Given the description of an element on the screen output the (x, y) to click on. 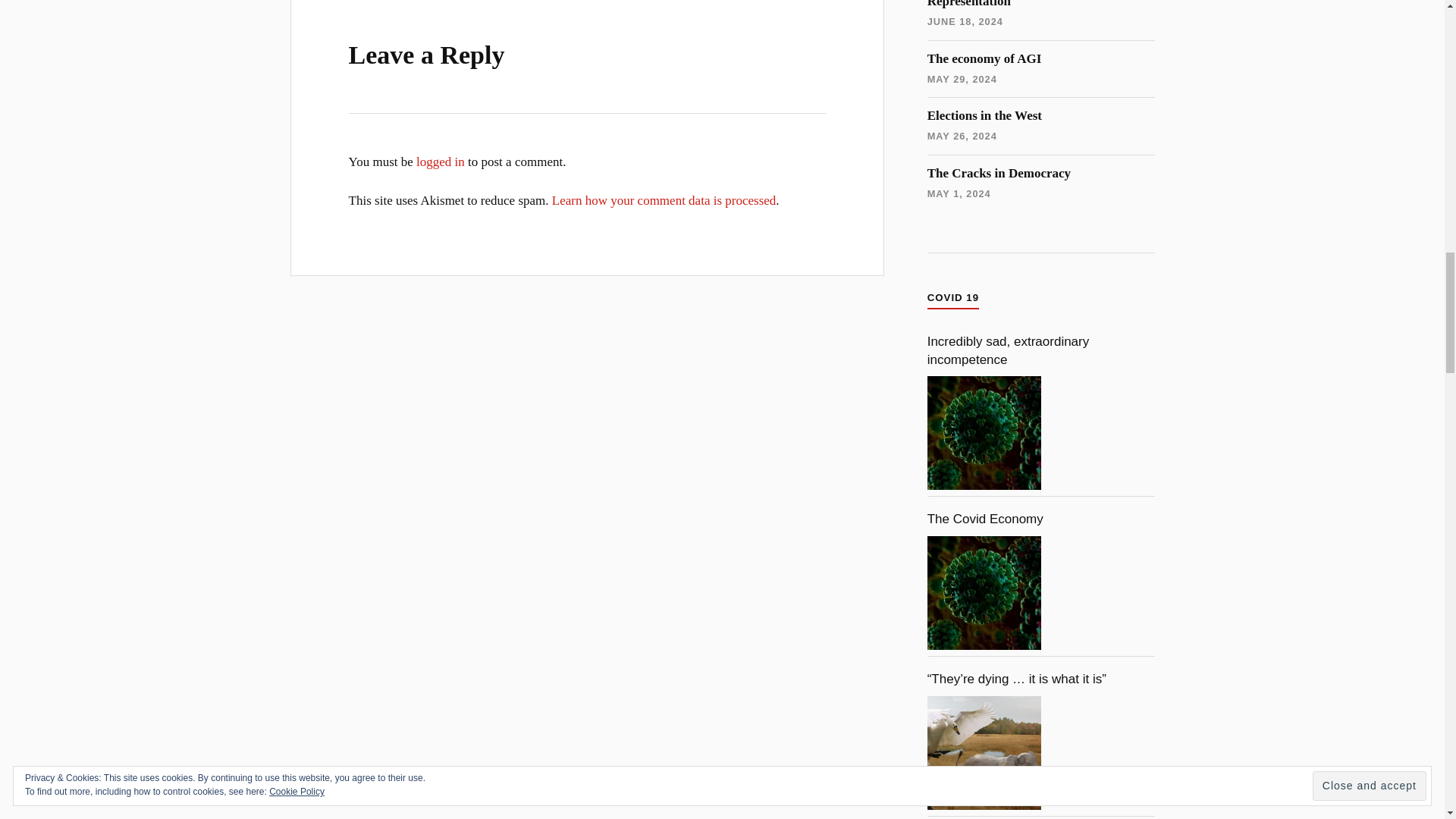
The Covid Economy (984, 593)
Learn how your comment data is processed (663, 200)
logged in (440, 161)
Incredibly sad, extraordinary incompetence (984, 432)
